Given the description of an element on the screen output the (x, y) to click on. 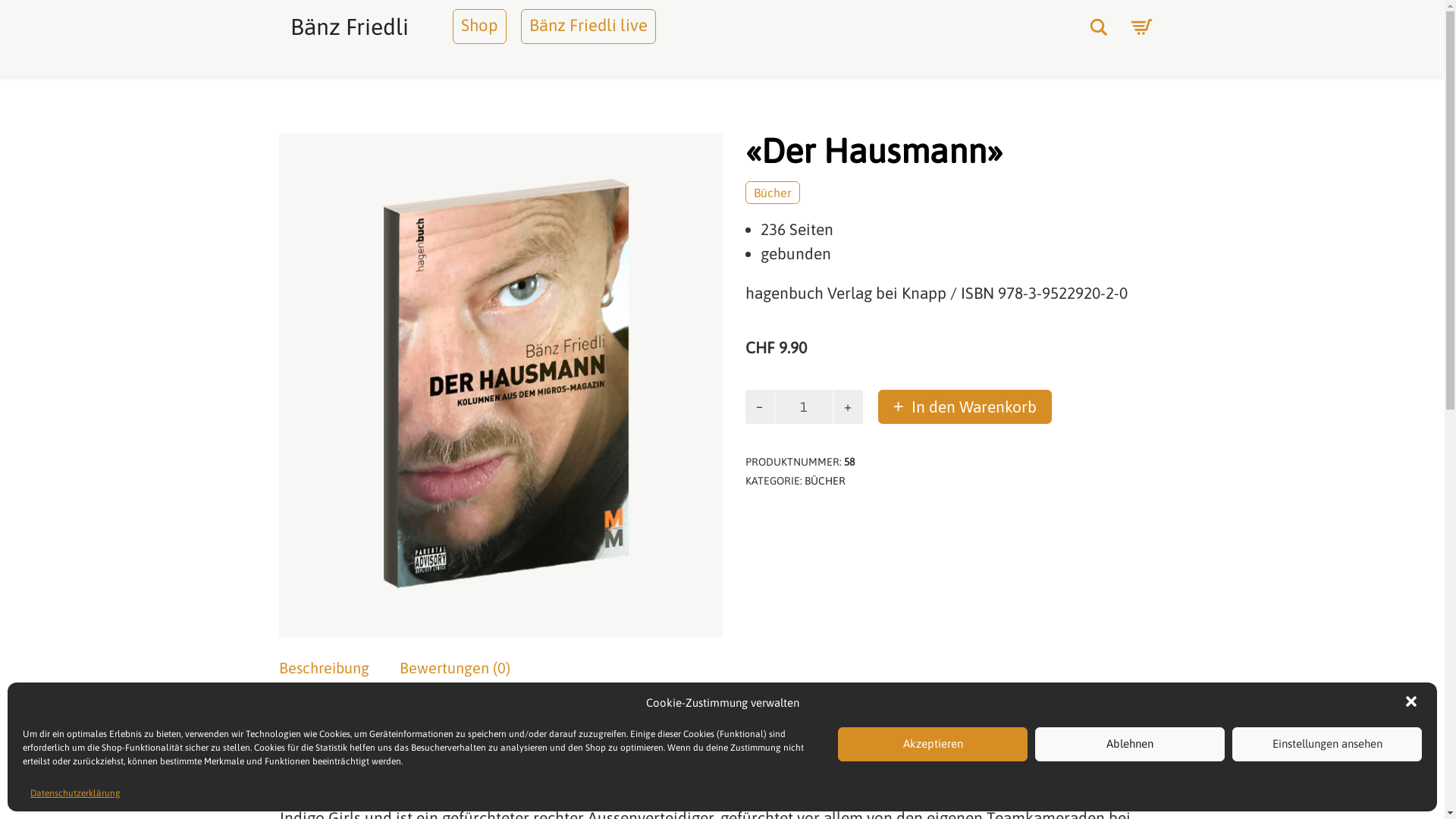
Menge Element type: hover (803, 406)
Akzeptieren Element type: text (932, 744)
In den Warenkorb Element type: text (964, 406)
Beschreibung Element type: text (324, 668)
Shop Element type: text (478, 26)
Einstellungen ansehen Element type: text (1326, 744)
BUCH-der-hausmann Element type: hover (499, 364)
Ablehnen Element type: text (1129, 744)
Bewertungen (0) Element type: text (453, 668)
Suche Element type: text (1097, 26)
